Given the description of an element on the screen output the (x, y) to click on. 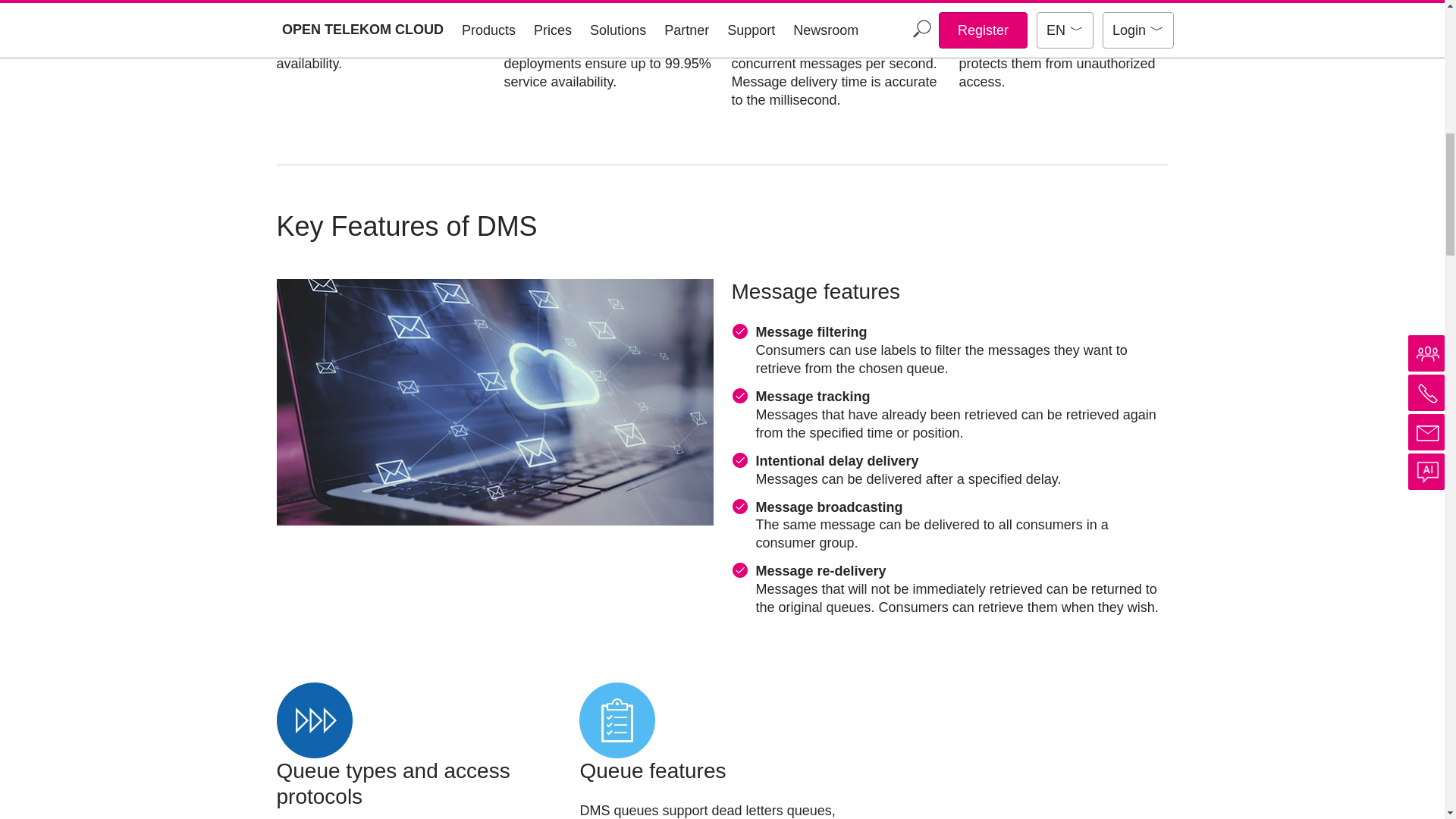
Merkmale von Warteschlangen (617, 720)
Key Features of DMS (494, 402)
Queue types and access protocols (314, 720)
